Given the description of an element on the screen output the (x, y) to click on. 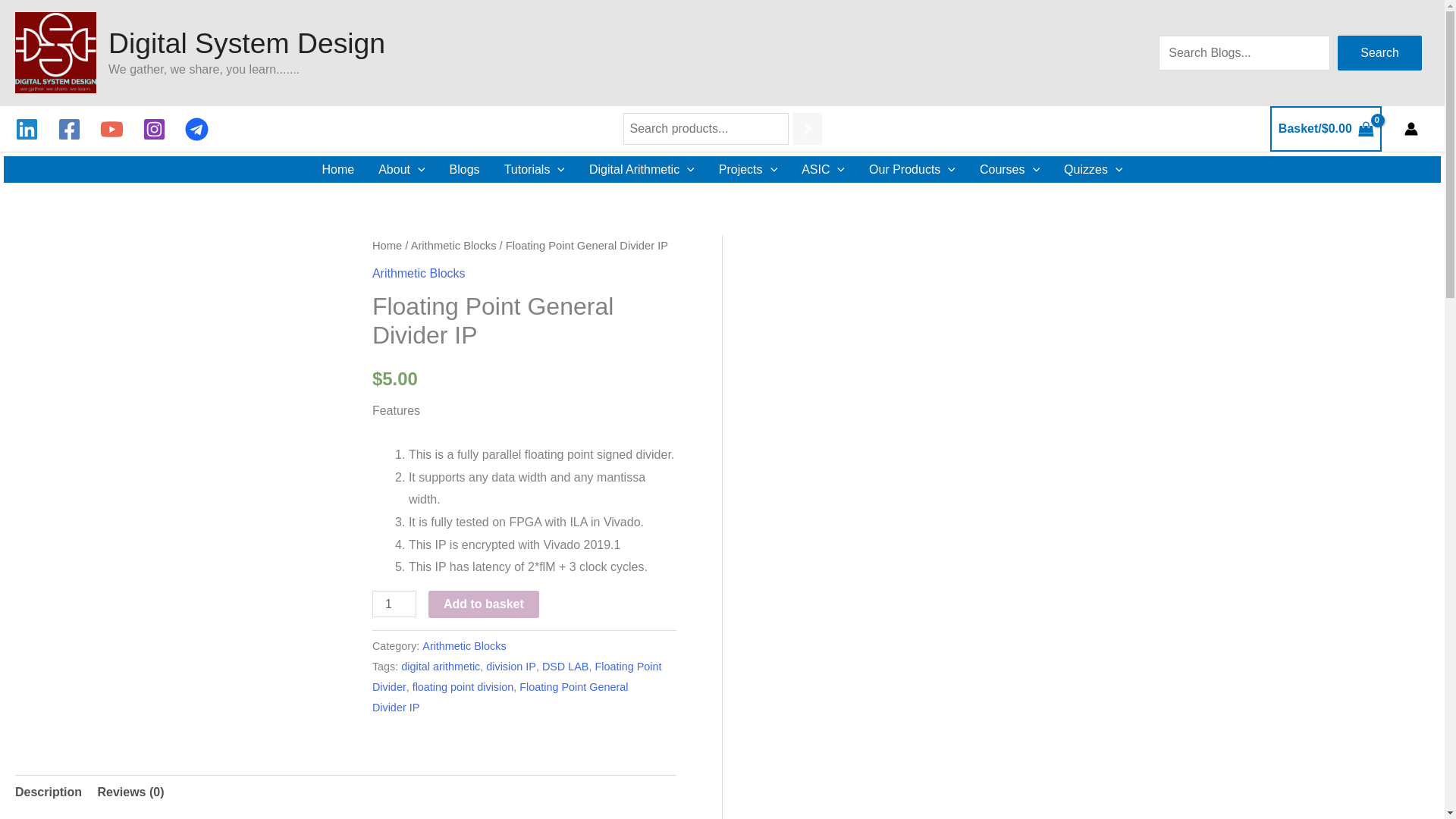
Digital Arithmetic (641, 169)
Tutorials (534, 169)
Search (1380, 52)
About (401, 169)
1 (394, 603)
Digital System Design (246, 42)
Blogs (465, 169)
Home (337, 169)
